Given the description of an element on the screen output the (x, y) to click on. 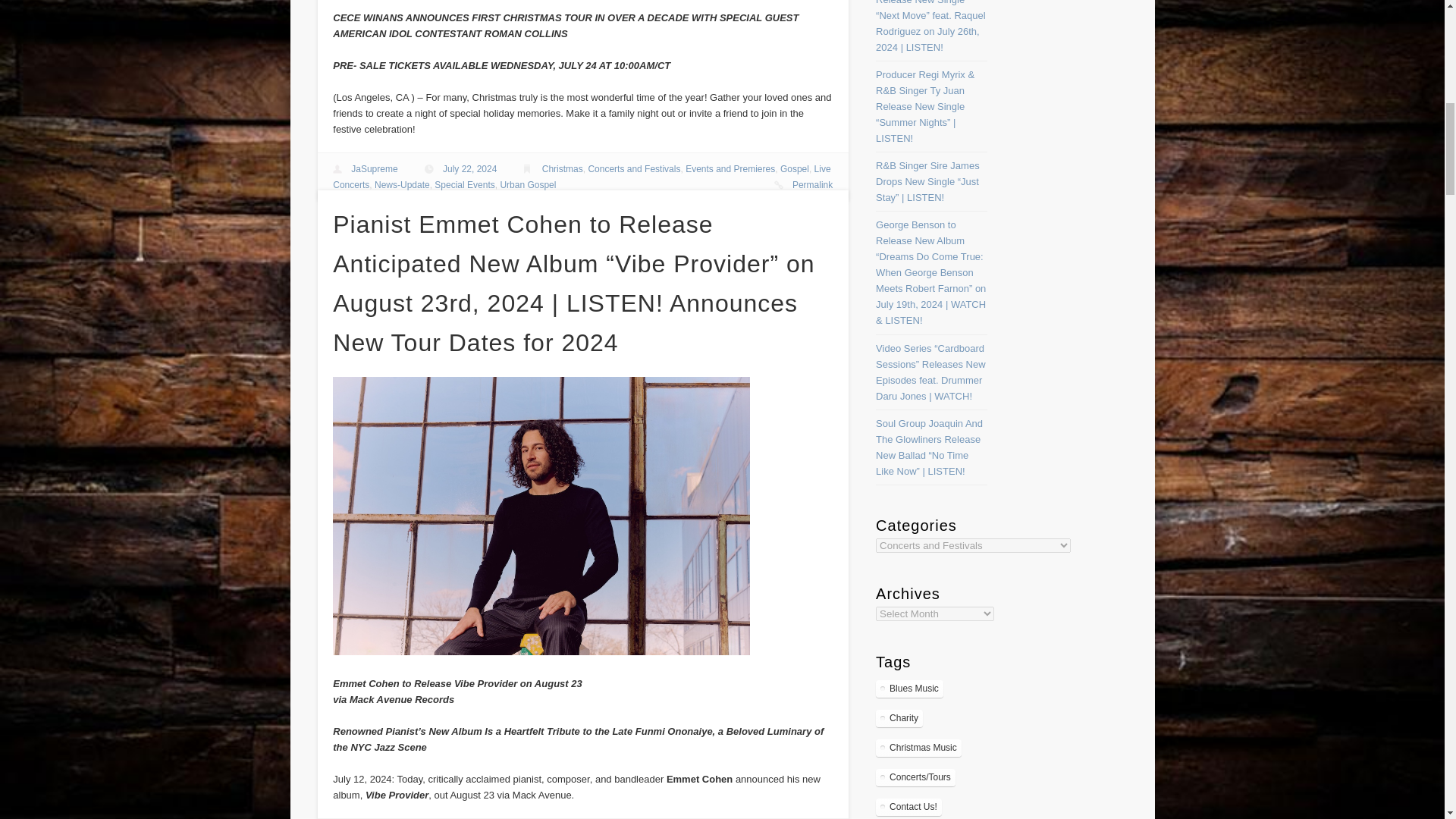
JaSupreme (373, 168)
July 22, 2024 (469, 168)
Gospel (794, 168)
Christmas (562, 168)
News-Update (401, 184)
Events and Premieres (729, 168)
Permalink (812, 184)
Concerts and Festivals (633, 168)
Live Concerts (581, 176)
Urban Gospel (527, 184)
Posts by JaSupreme (373, 168)
Special Events (464, 184)
